Given the description of an element on the screen output the (x, y) to click on. 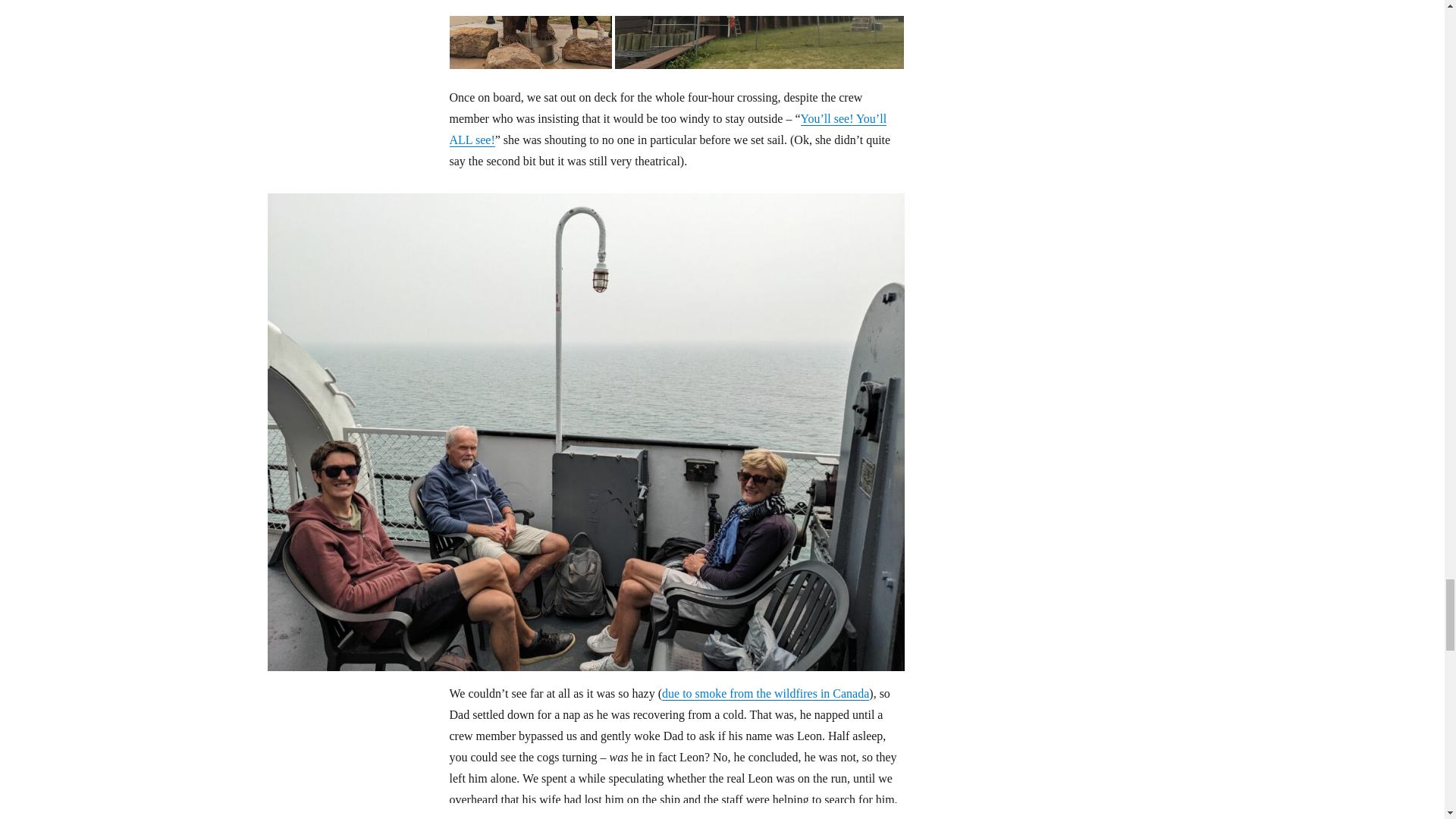
due to smoke from the wildfires in Canada (765, 693)
